Given the description of an element on the screen output the (x, y) to click on. 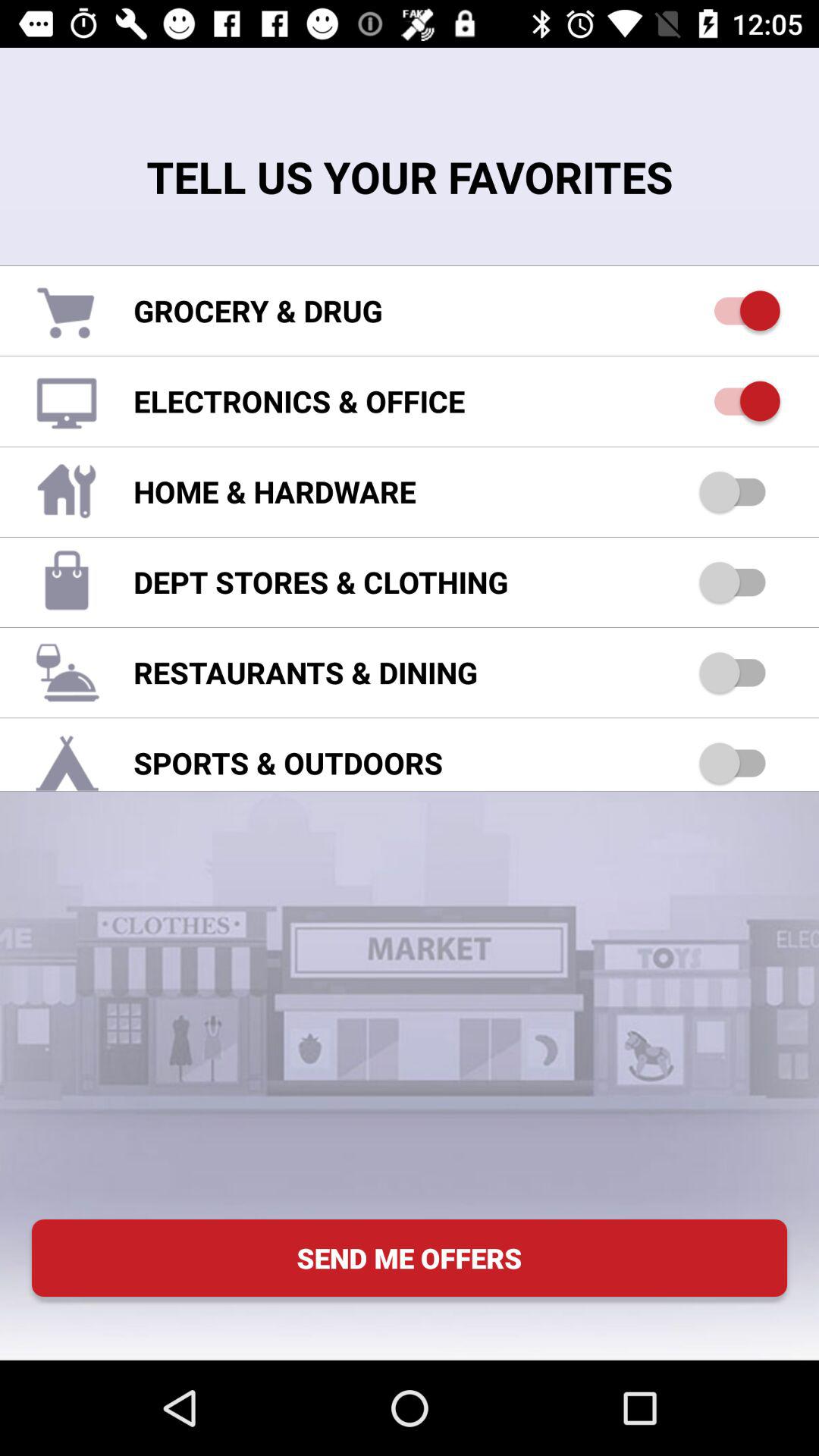
toggle department stores and clothing (739, 582)
